Given the description of an element on the screen output the (x, y) to click on. 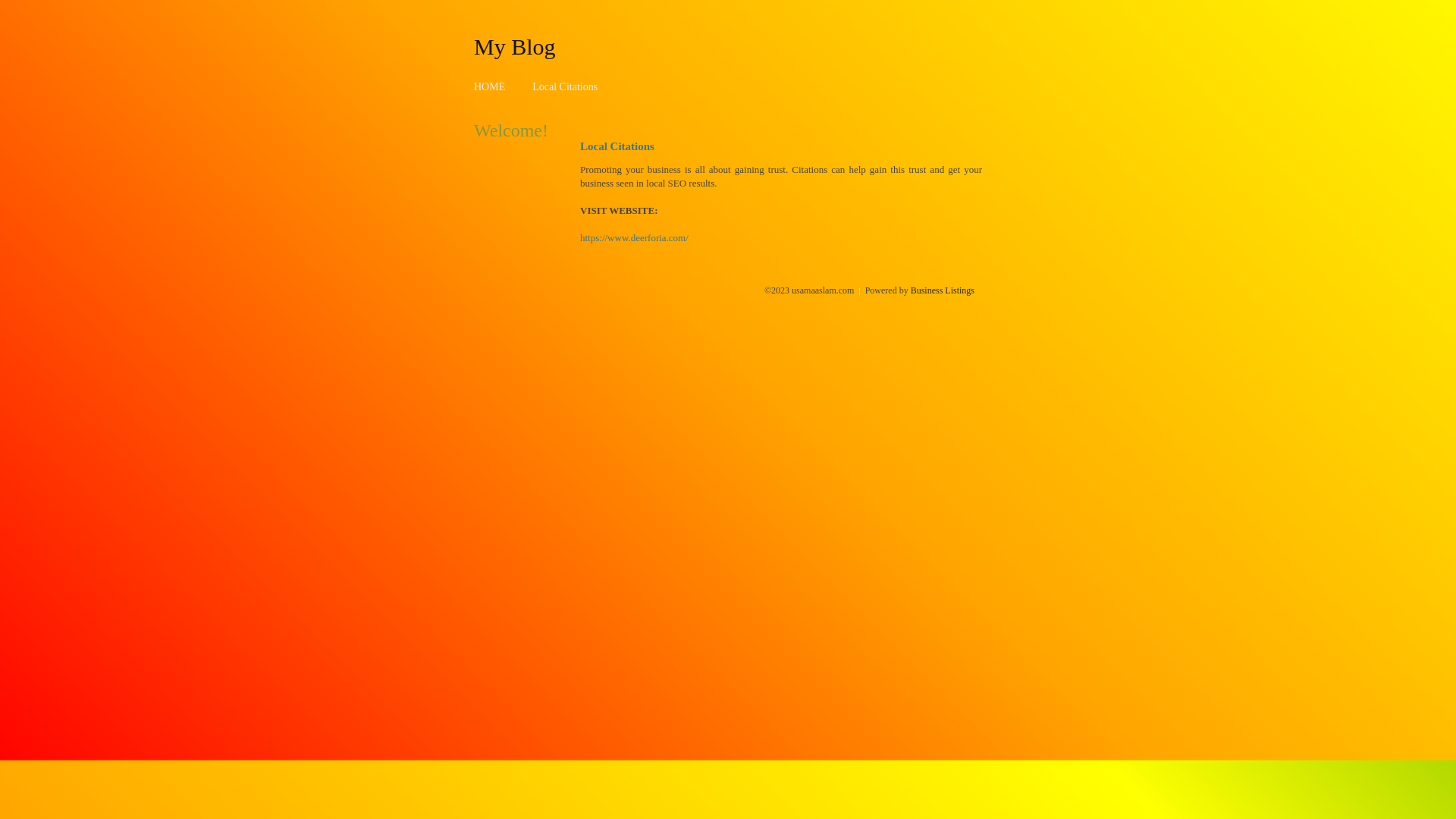
Business Listings Element type: text (942, 290)
My Blog Element type: text (514, 46)
HOME Element type: text (489, 86)
https://www.deerforia.com/ Element type: text (634, 237)
Local Citations Element type: text (564, 86)
